Given the description of an element on the screen output the (x, y) to click on. 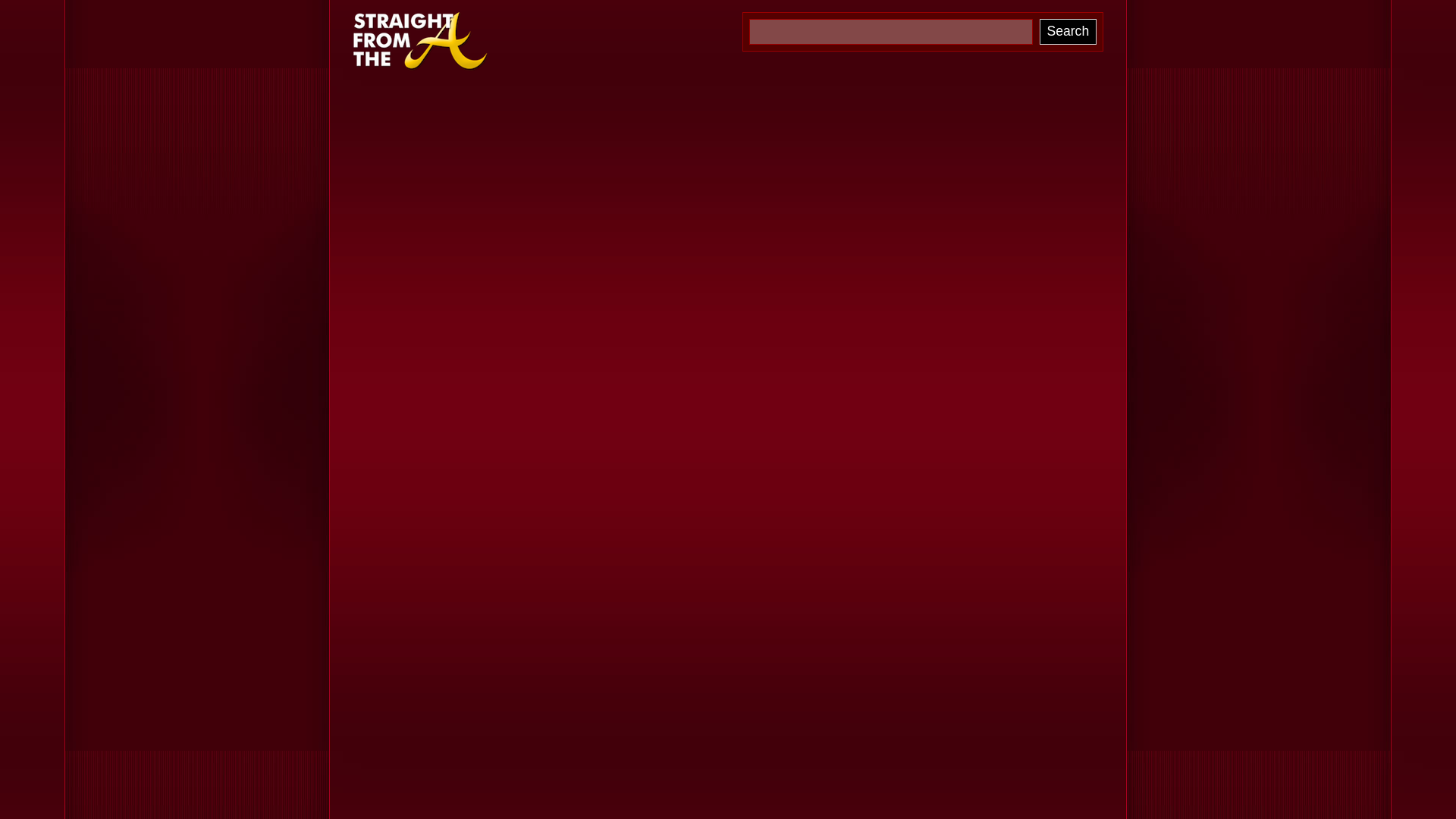
Search (1067, 31)
Search (1067, 31)
